Given the description of an element on the screen output the (x, y) to click on. 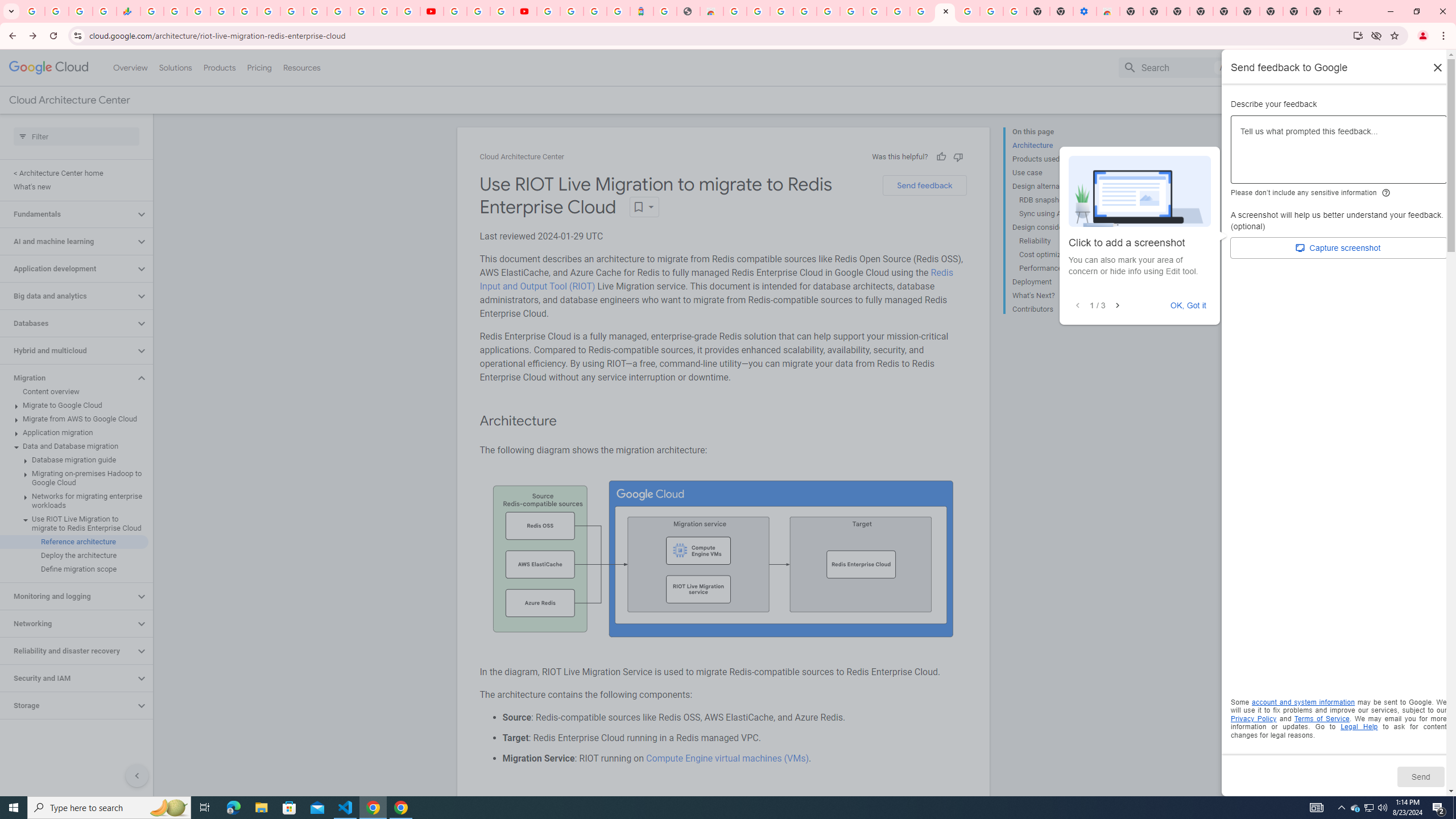
Create your Google Account (501, 11)
Helpful (940, 156)
Migrate from AWS to Google Cloud (74, 418)
Use case (1058, 172)
Hybrid and multicloud (67, 350)
Data and Database migration (74, 445)
RDB snapshots (1062, 200)
Content Creator Programs & Opportunities - YouTube Creators (524, 11)
Install Google Cloud (1358, 35)
Products (218, 67)
